Given the description of an element on the screen output the (x, y) to click on. 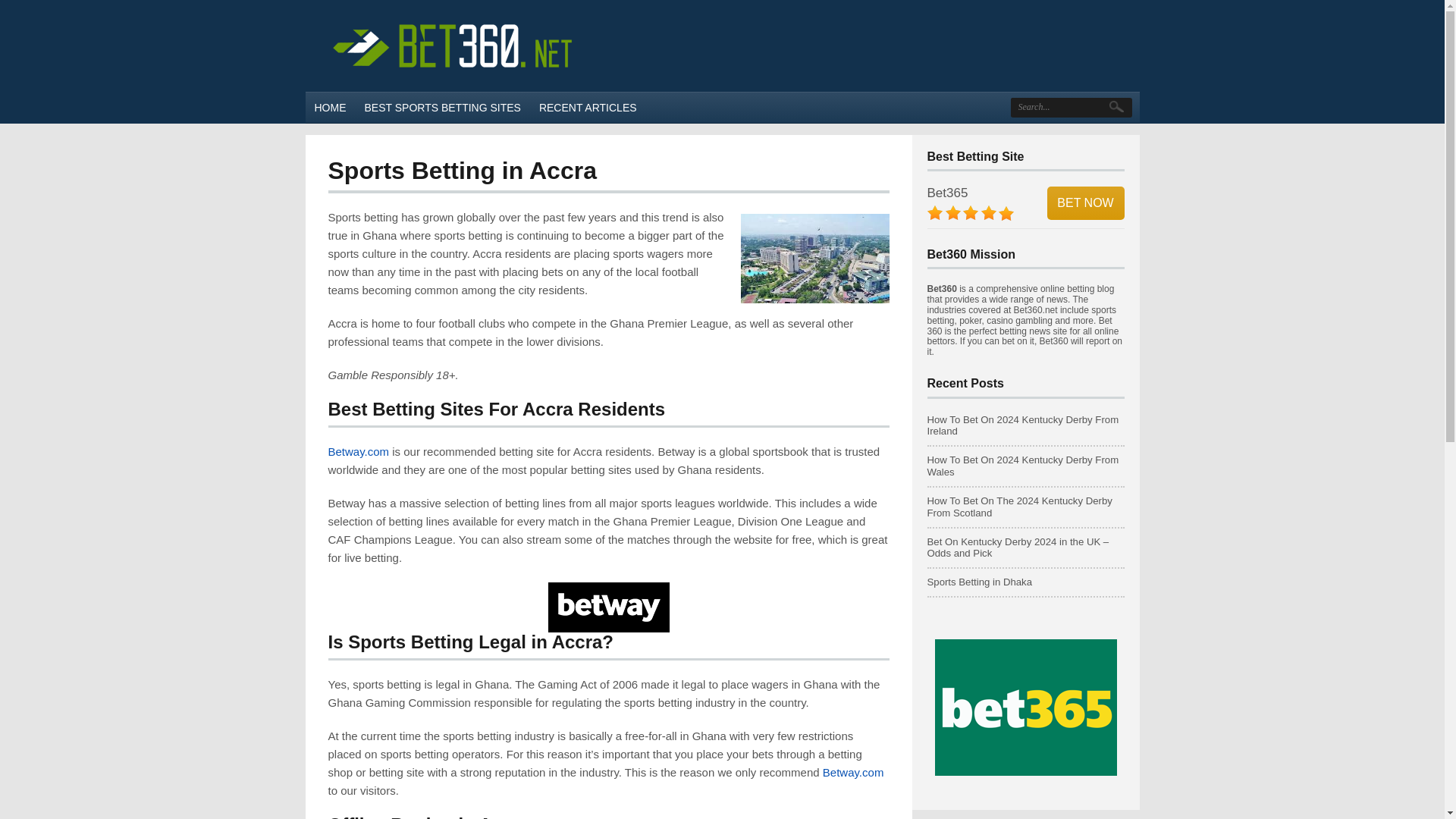
BET NOW (1085, 203)
HOME (329, 107)
RECENT ARTICLES (587, 107)
Bet360 (329, 107)
Bet365 (947, 192)
Betway.com (852, 771)
BEST SPORTS BETTING SITES (442, 107)
Sports Betting in Dhaka (979, 582)
Betway.com (357, 451)
How To Bet On 2024 Kentucky Derby From Ireland (1022, 425)
How To Bet On The 2024 Kentucky Derby From Scotland (1019, 506)
How To Bet On 2024 Kentucky Derby From Wales (1022, 465)
